Given the description of an element on the screen output the (x, y) to click on. 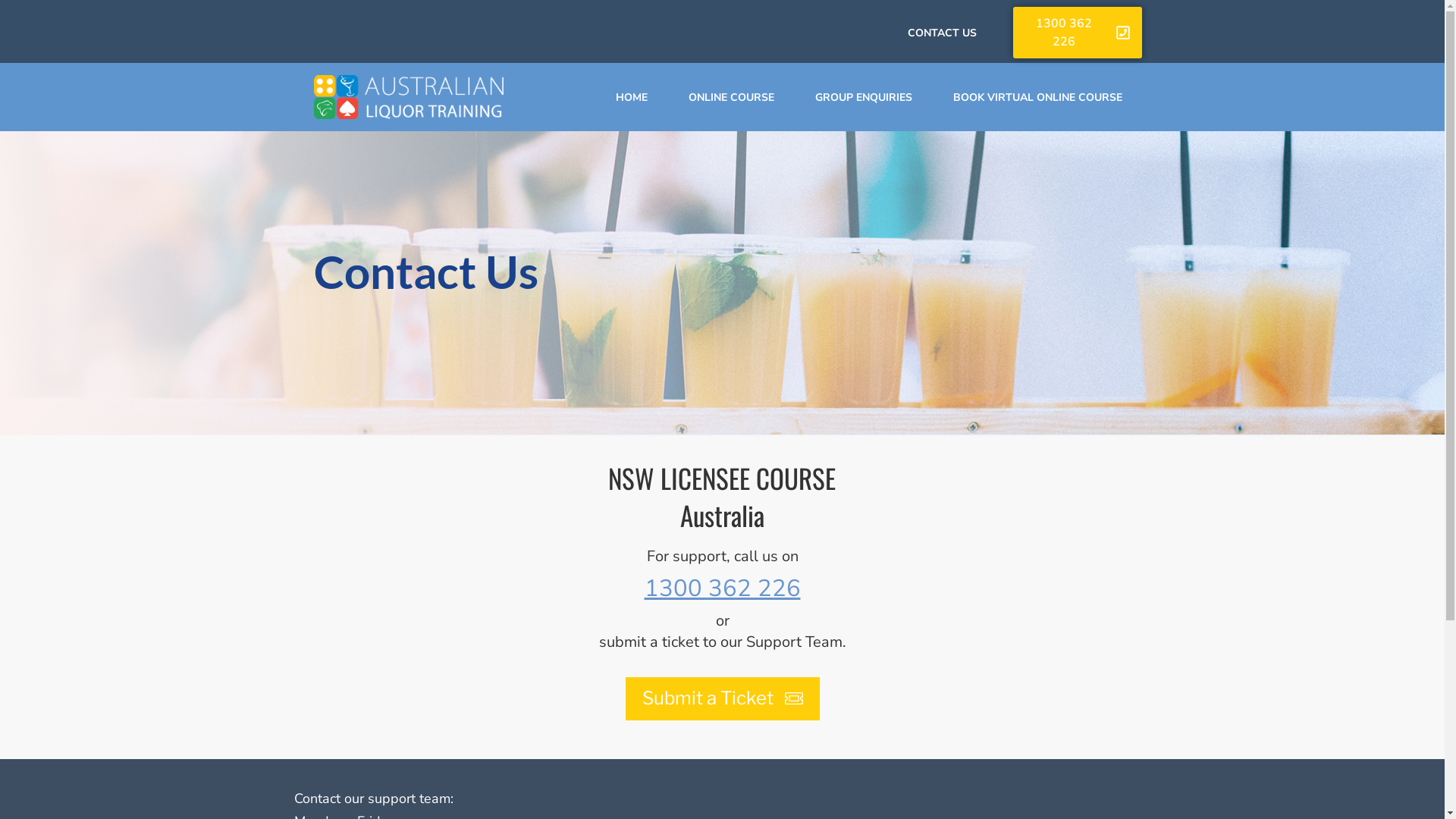
1300 362 226 Element type: text (722, 587)
HOME Element type: text (631, 97)
Submit a Ticket Element type: text (721, 698)
1300 362 226 Element type: text (1077, 32)
BOOK VIRTUAL ONLINE COURSE Element type: text (1036, 97)
logo-nsw Element type: hover (408, 97)
GROUP ENQUIRIES Element type: text (862, 97)
ONLINE COURSE Element type: text (731, 97)
CONTACT US Element type: text (941, 32)
